Given the description of an element on the screen output the (x, y) to click on. 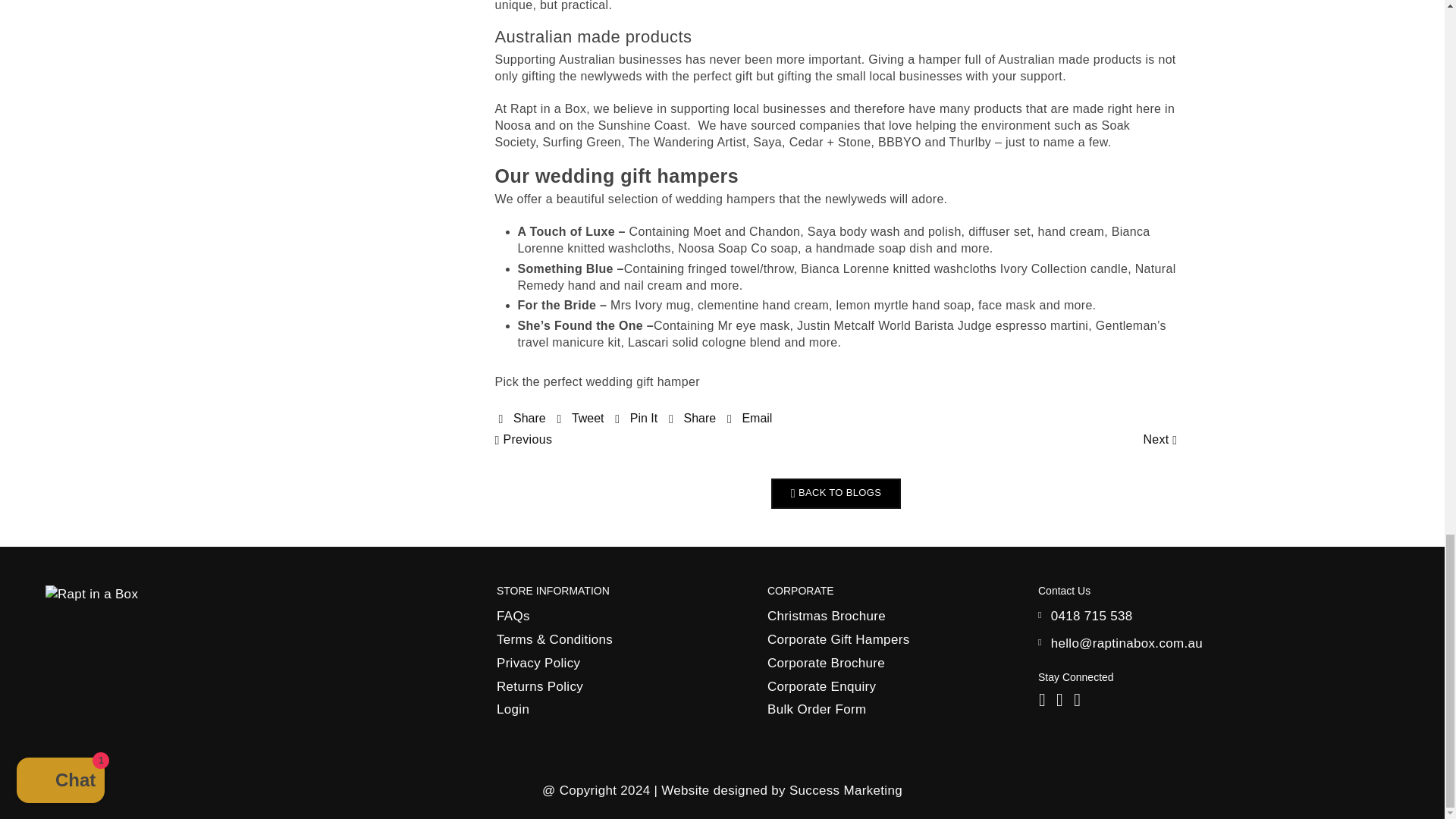
Tweet on Twitter (580, 418)
Share by Email (748, 418)
Share on Facebook (522, 418)
Share on Linked In (692, 418)
Pin on Pinterest (636, 418)
